Given the description of an element on the screen output the (x, y) to click on. 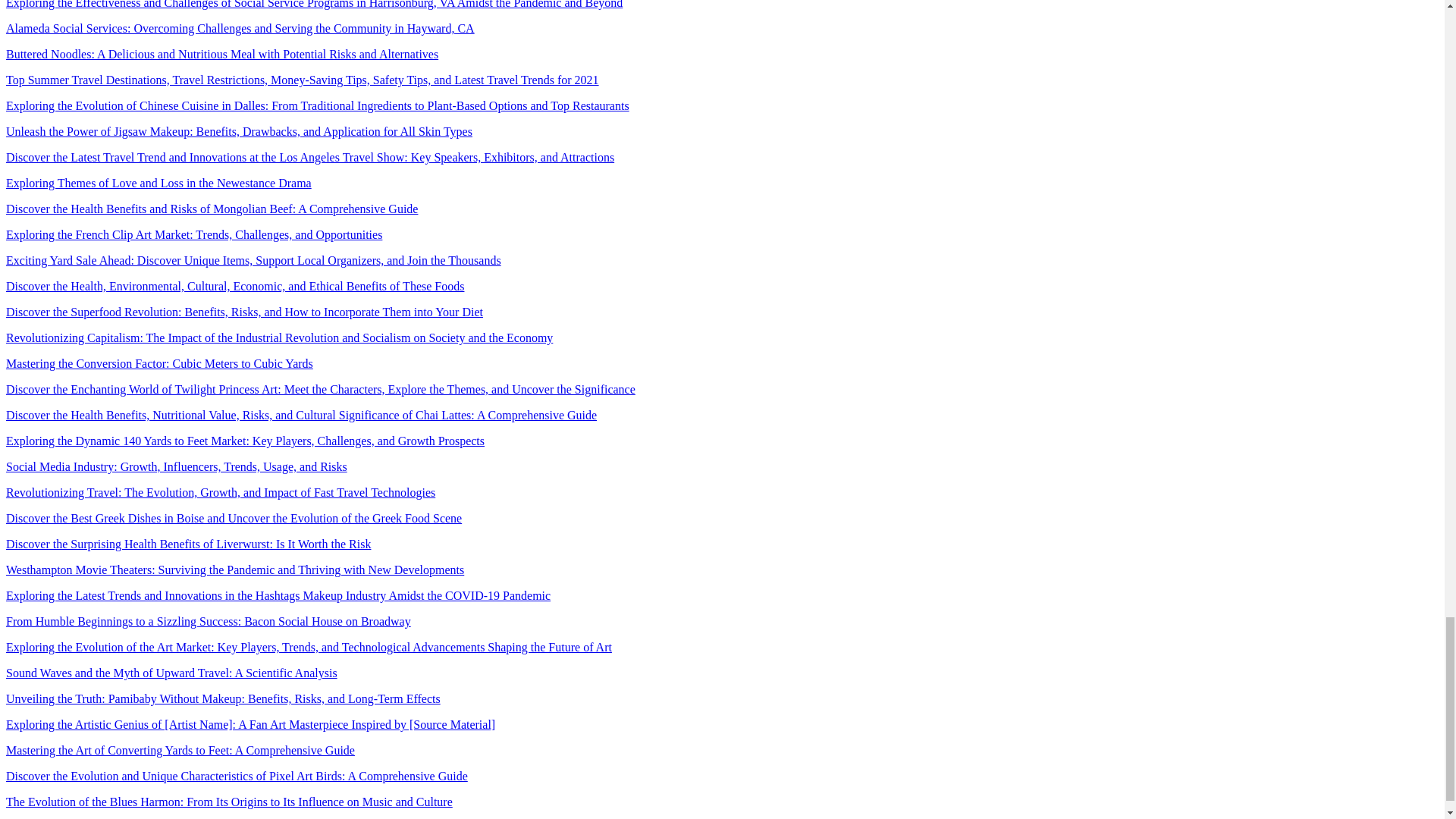
Exploring Themes of Love and Loss in the Newestance Drama (158, 182)
